Given the description of an element on the screen output the (x, y) to click on. 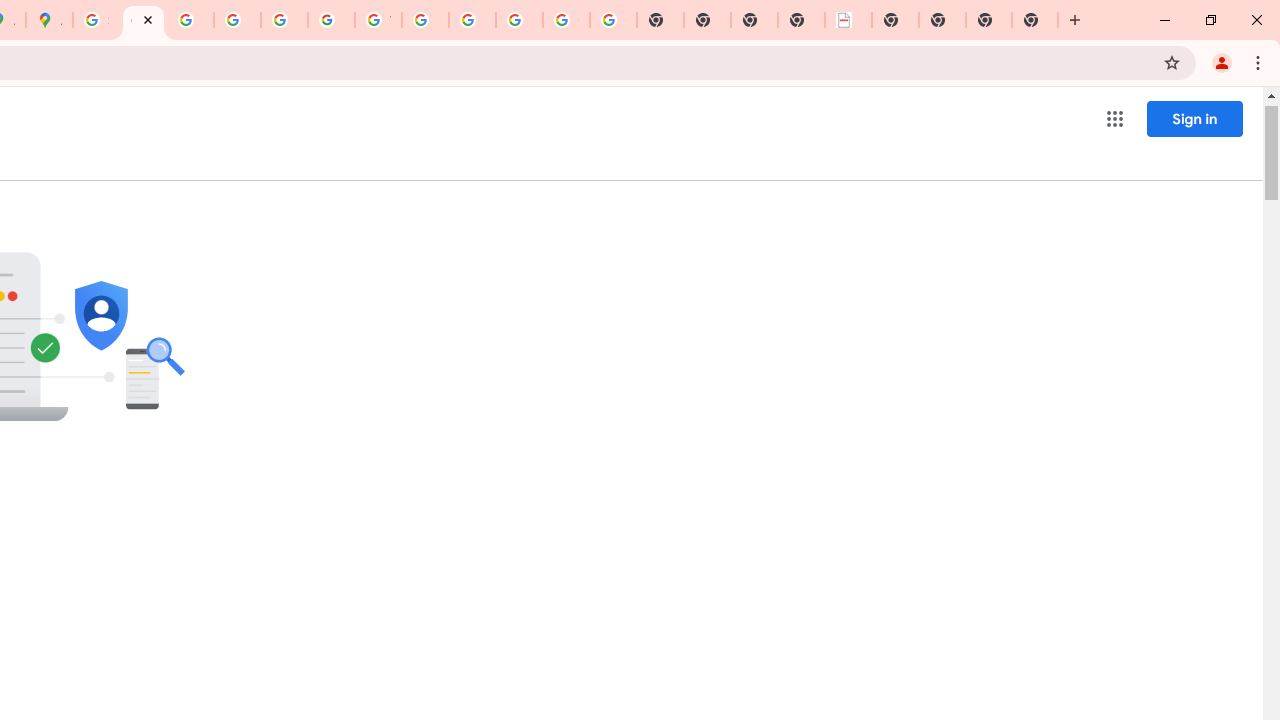
New Tab (1035, 20)
Privacy Help Center - Policies Help (237, 20)
LAAD Defence & Security 2025 | BAE Systems (848, 20)
